Given the description of an element on the screen output the (x, y) to click on. 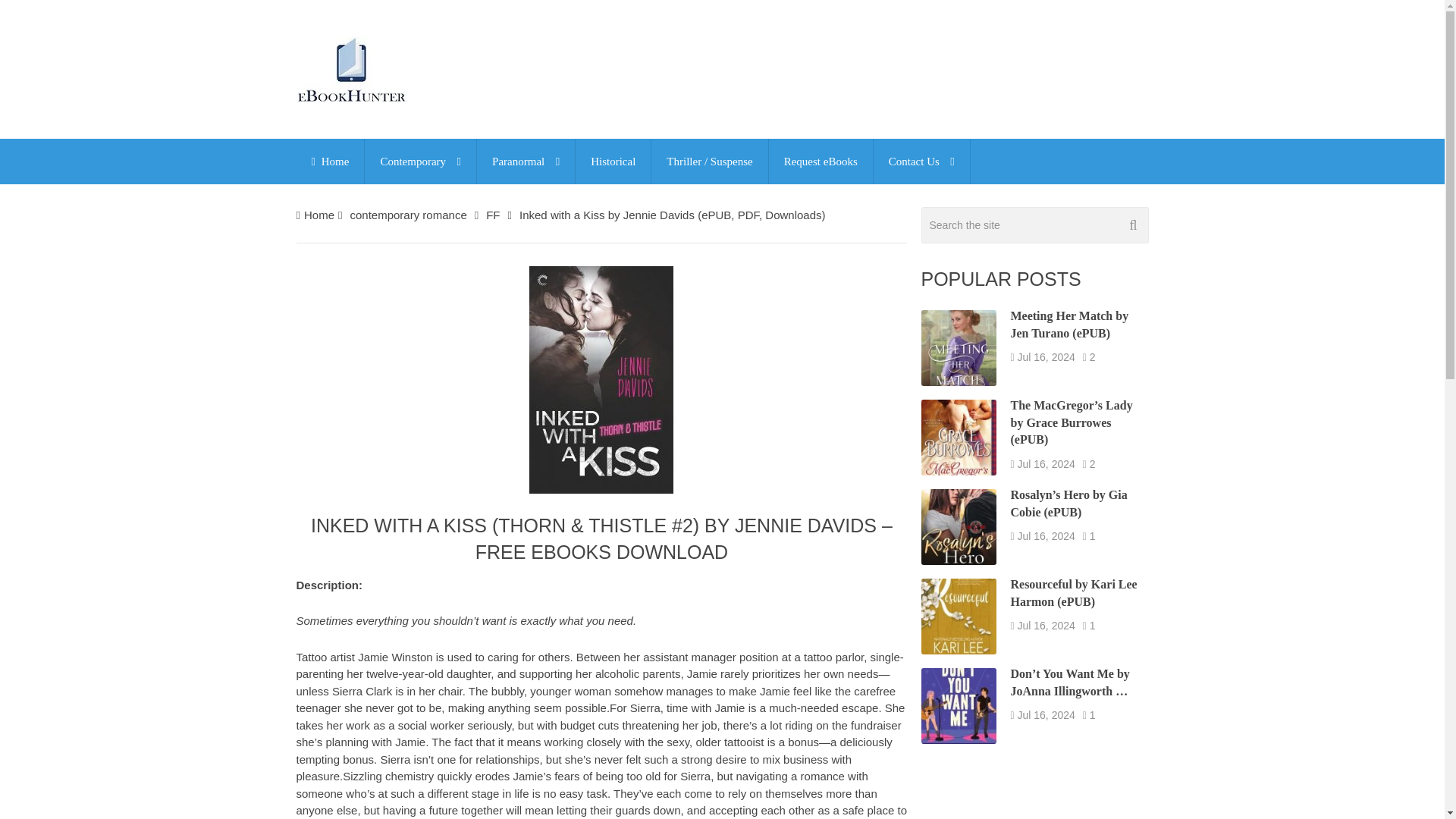
Contact Us (921, 161)
contemporary romance (407, 214)
Contemporary (420, 161)
FF (492, 214)
Historical (612, 161)
Home (319, 214)
Request eBooks (820, 161)
Home (329, 161)
Paranormal (526, 161)
